Given the description of an element on the screen output the (x, y) to click on. 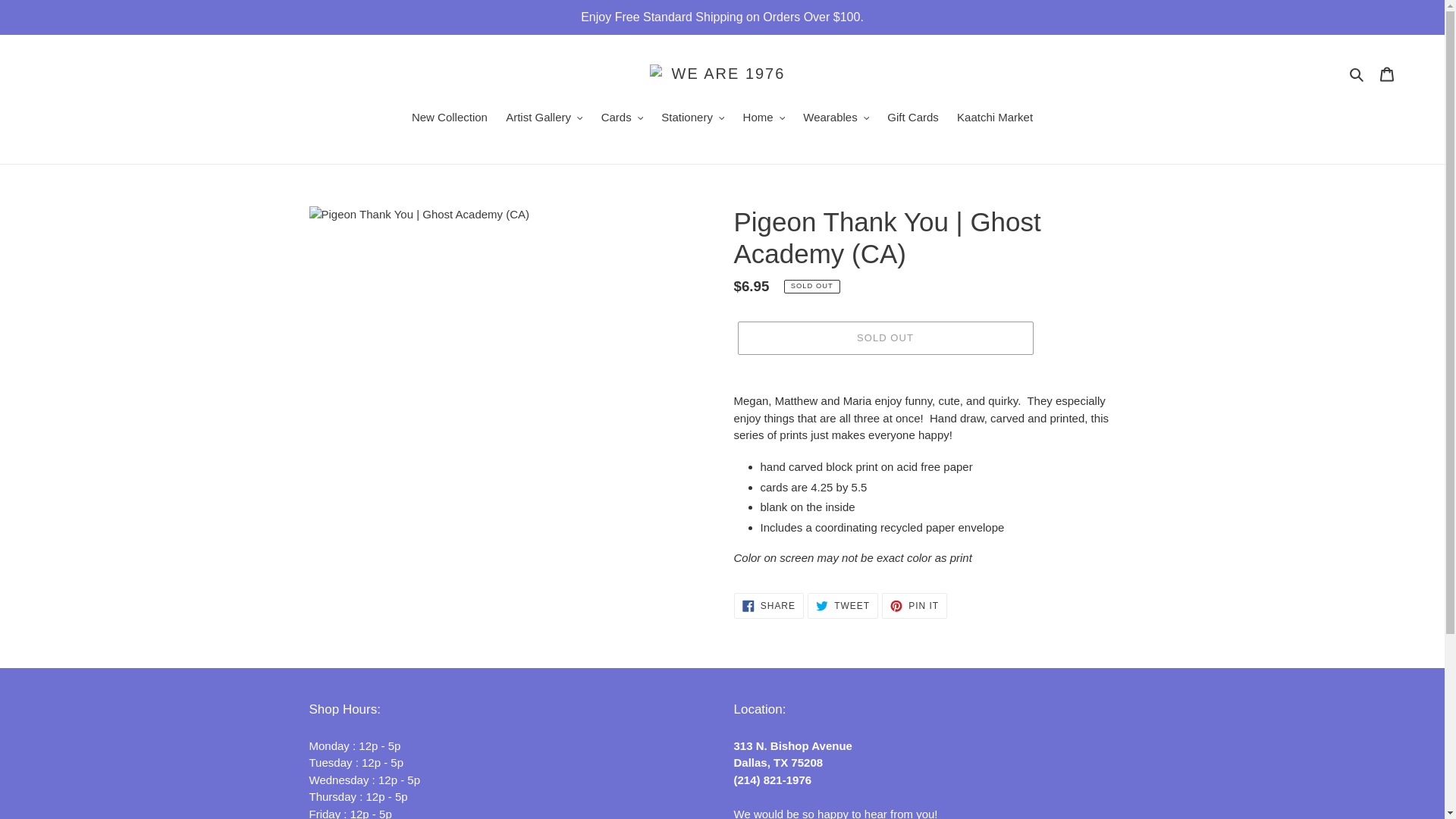
Search (1357, 73)
Cart (1387, 73)
